Given the description of an element on the screen output the (x, y) to click on. 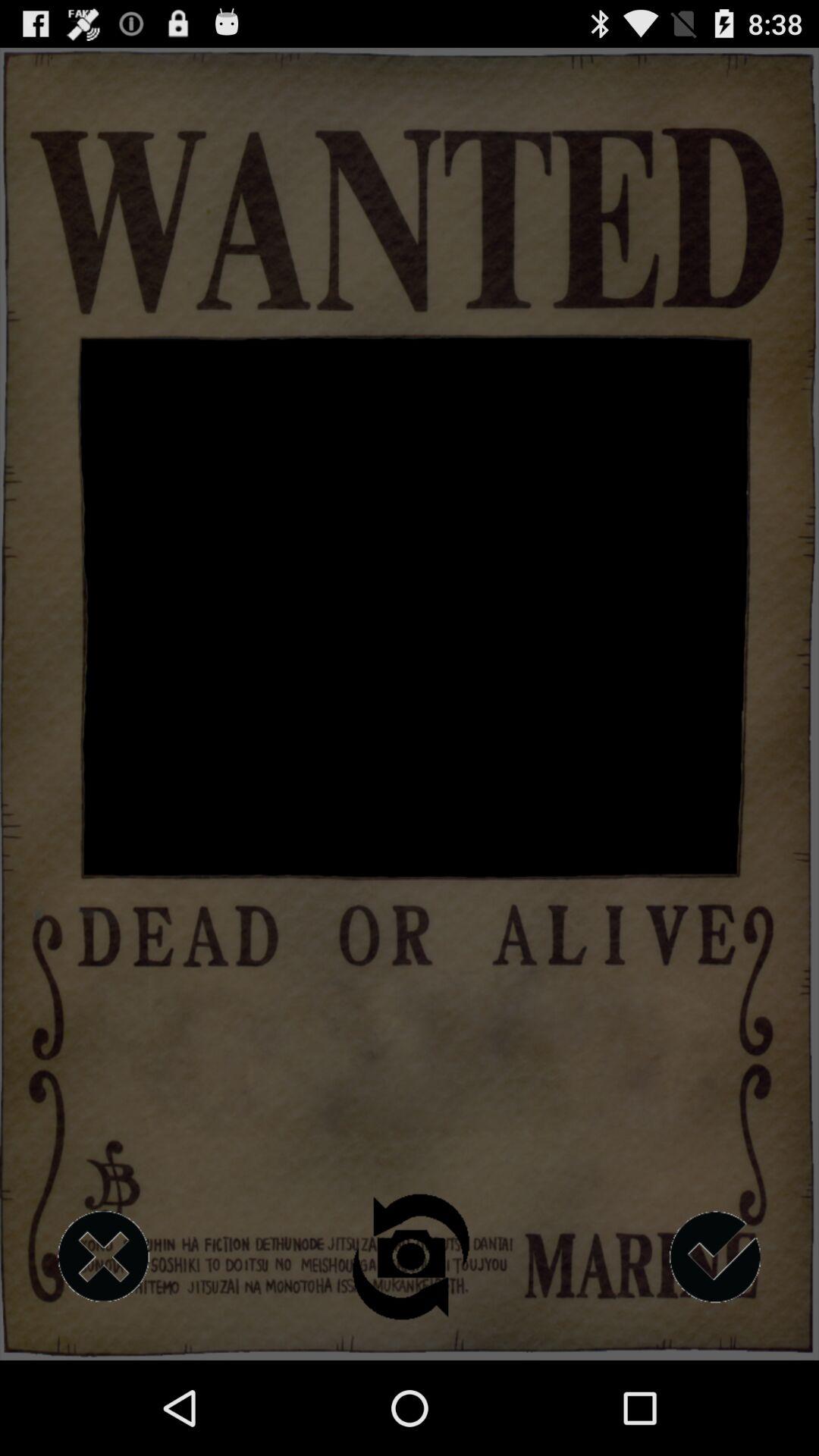
turn off item at the bottom left corner (103, 1256)
